Given the description of an element on the screen output the (x, y) to click on. 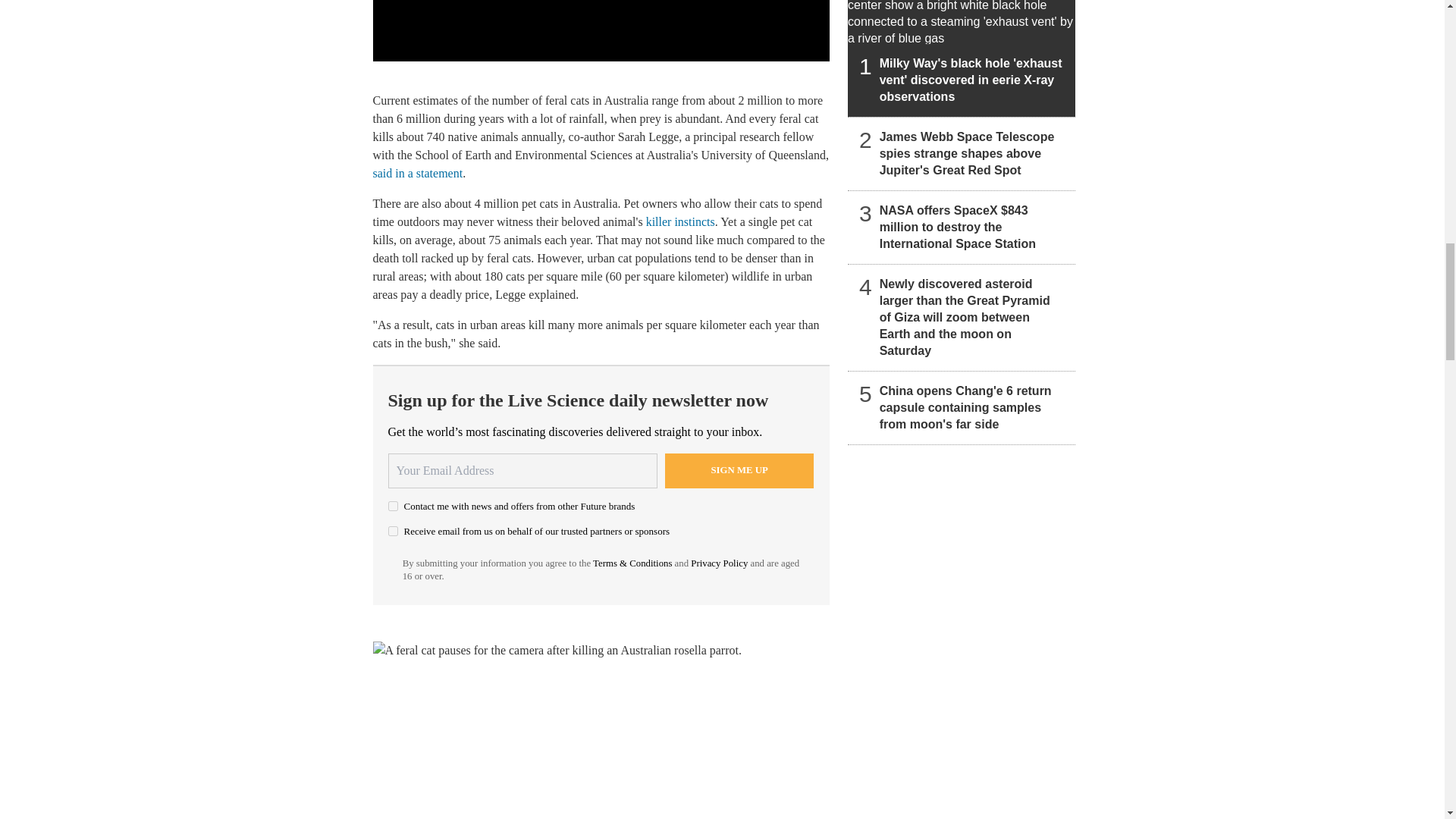
on (392, 531)
on (392, 506)
Sign me up (739, 470)
